Given the description of an element on the screen output the (x, y) to click on. 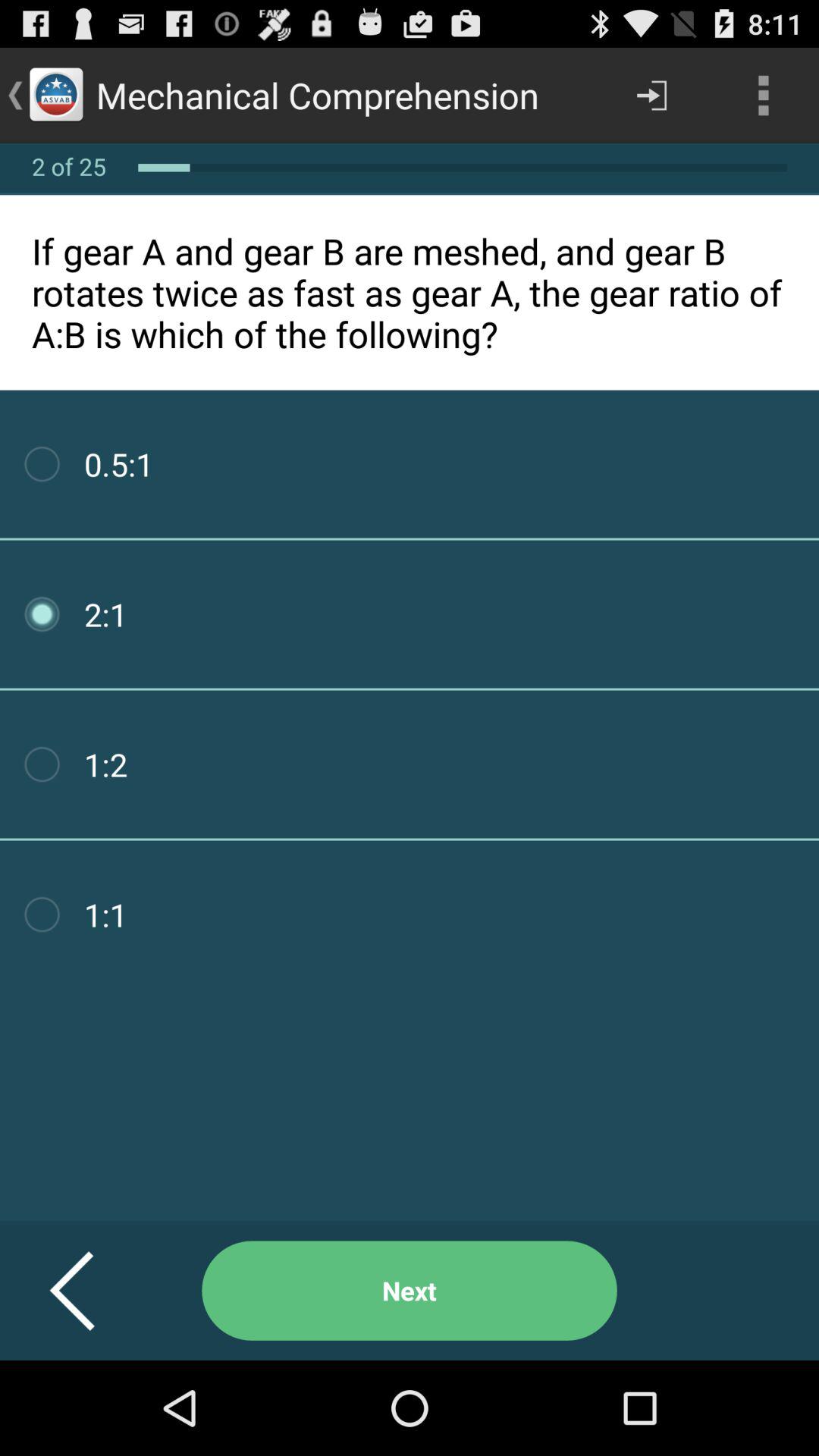
jump to the next icon (409, 1290)
